Given the description of an element on the screen output the (x, y) to click on. 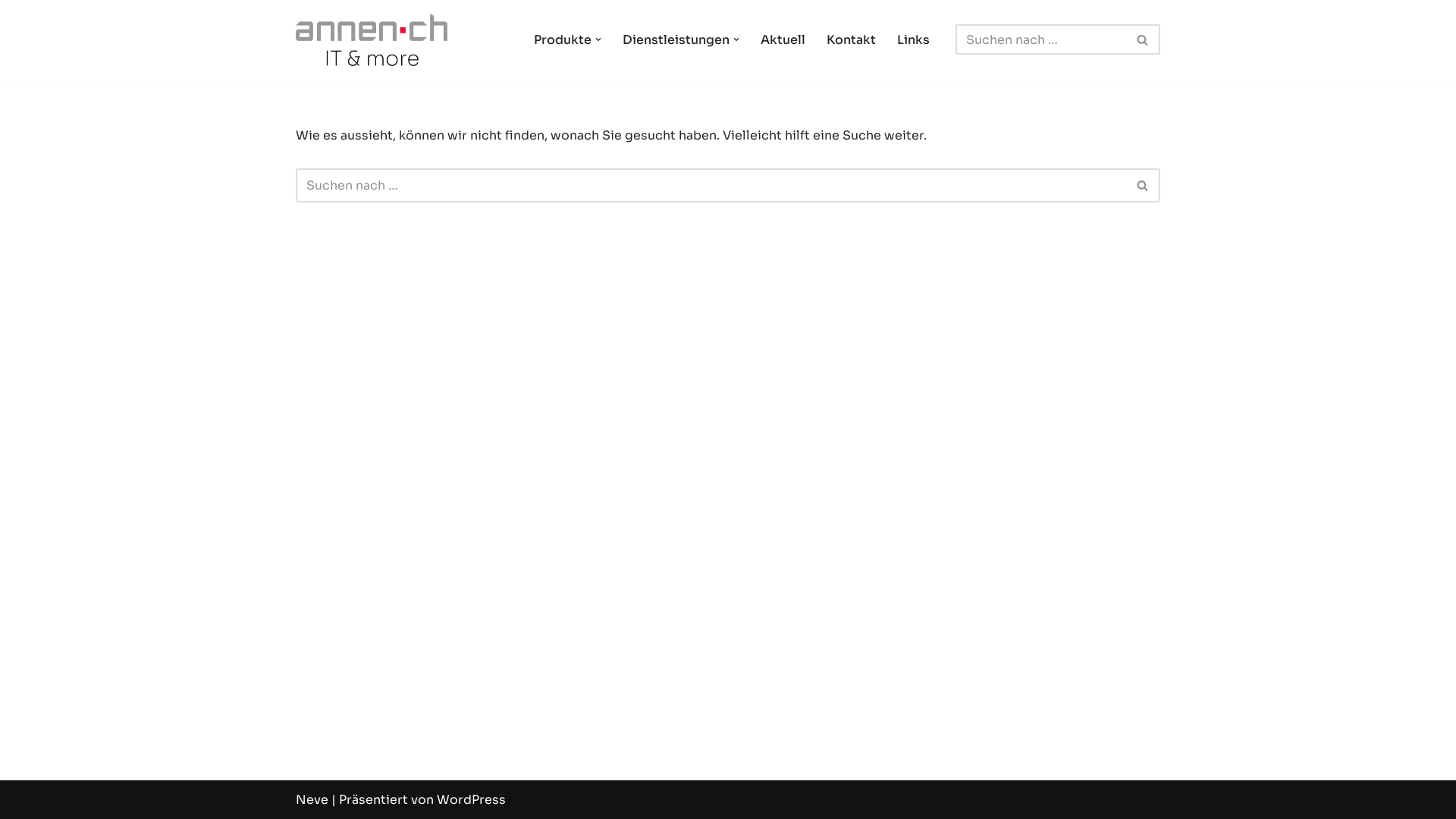
Kontakt Element type: text (850, 39)
Neve Element type: text (311, 799)
Aktuell Element type: text (782, 39)
Links Element type: text (913, 39)
Dienstleistungen Element type: text (675, 39)
Zum Inhalt springen Element type: text (11, 31)
WordPress Element type: text (470, 799)
Produkte Element type: text (562, 39)
